Given the description of an element on the screen output the (x, y) to click on. 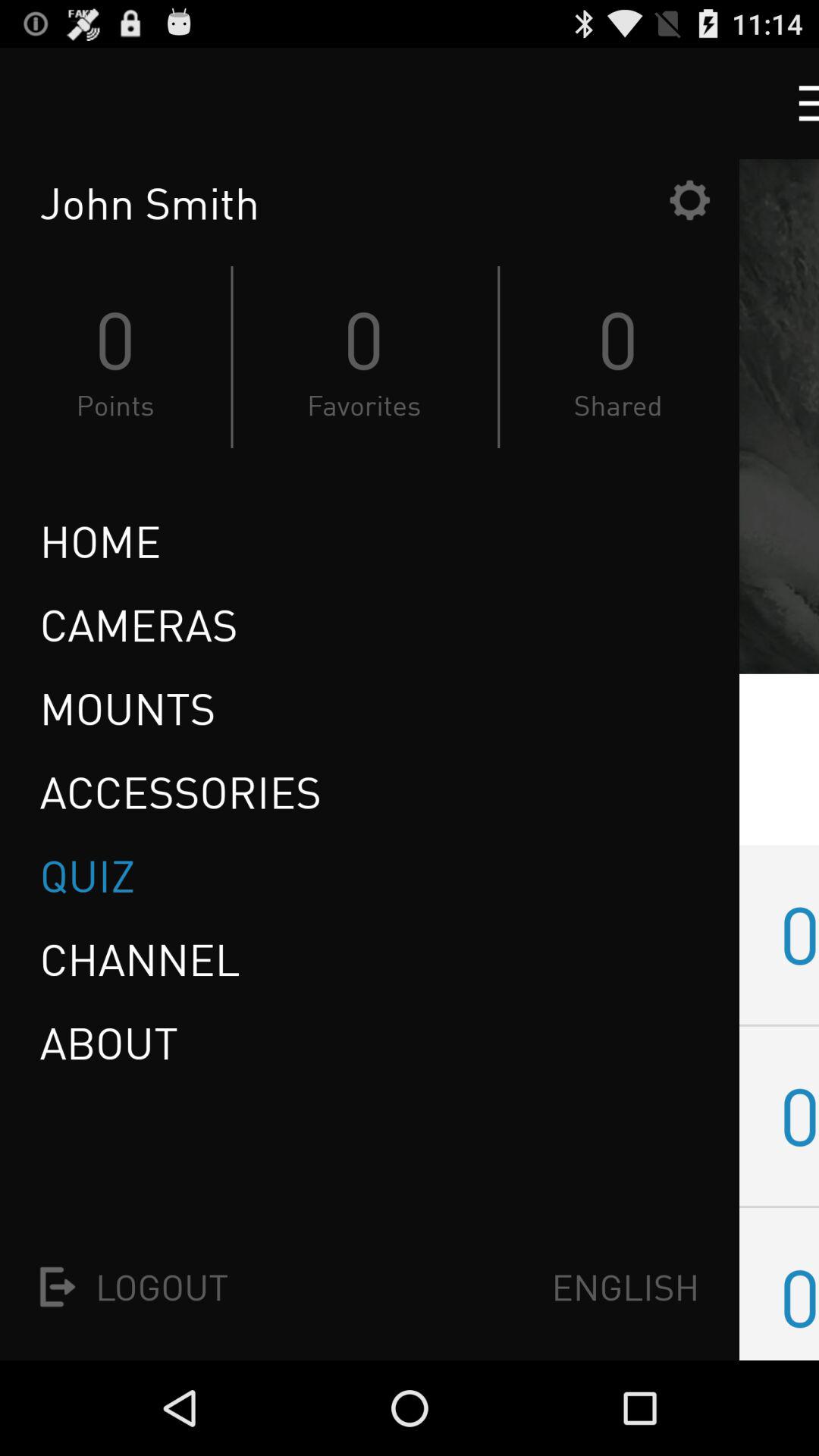
press the item next to the john smith item (689, 199)
